Given the description of an element on the screen output the (x, y) to click on. 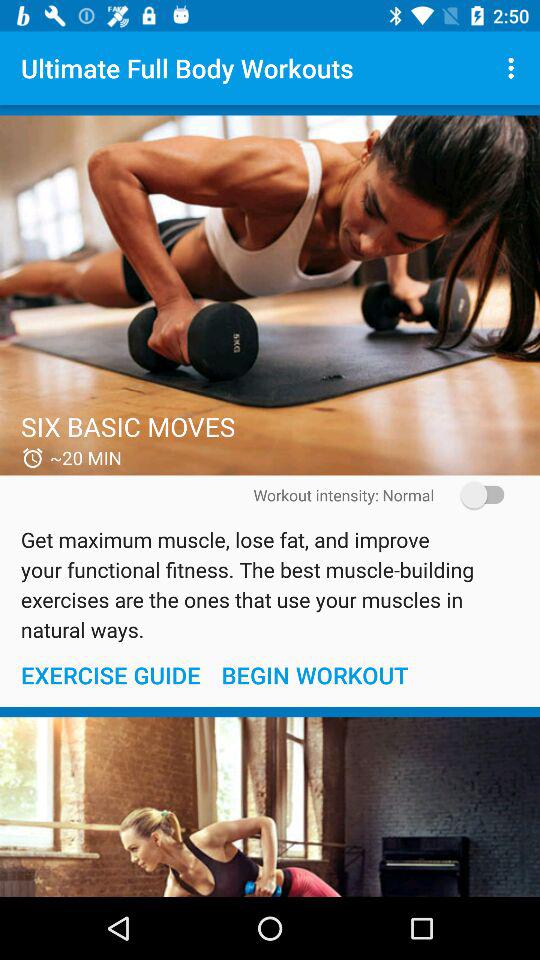
increase intensity (476, 494)
